Given the description of an element on the screen output the (x, y) to click on. 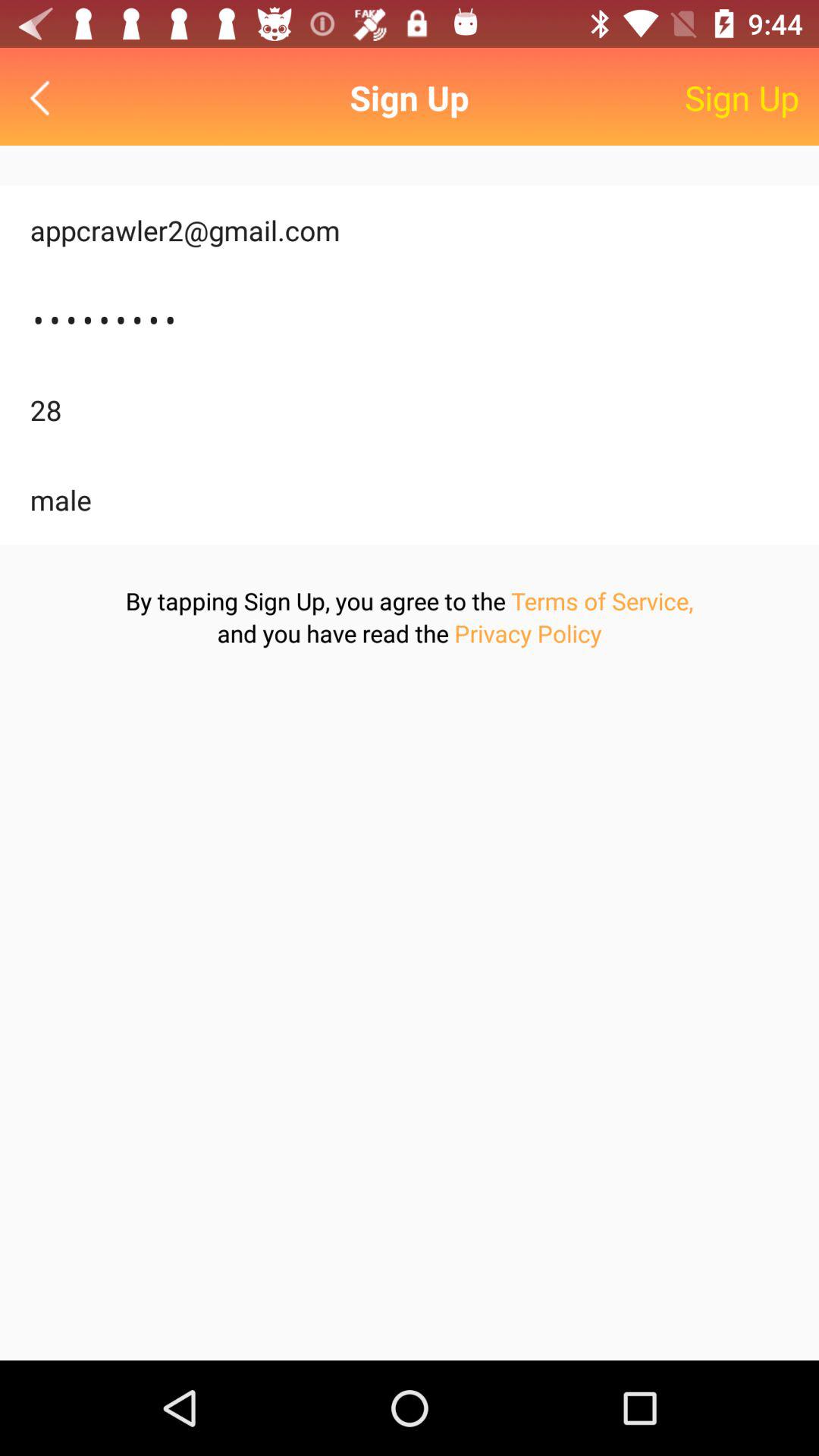
turn off item to the left of the sign up item (43, 97)
